Given the description of an element on the screen output the (x, y) to click on. 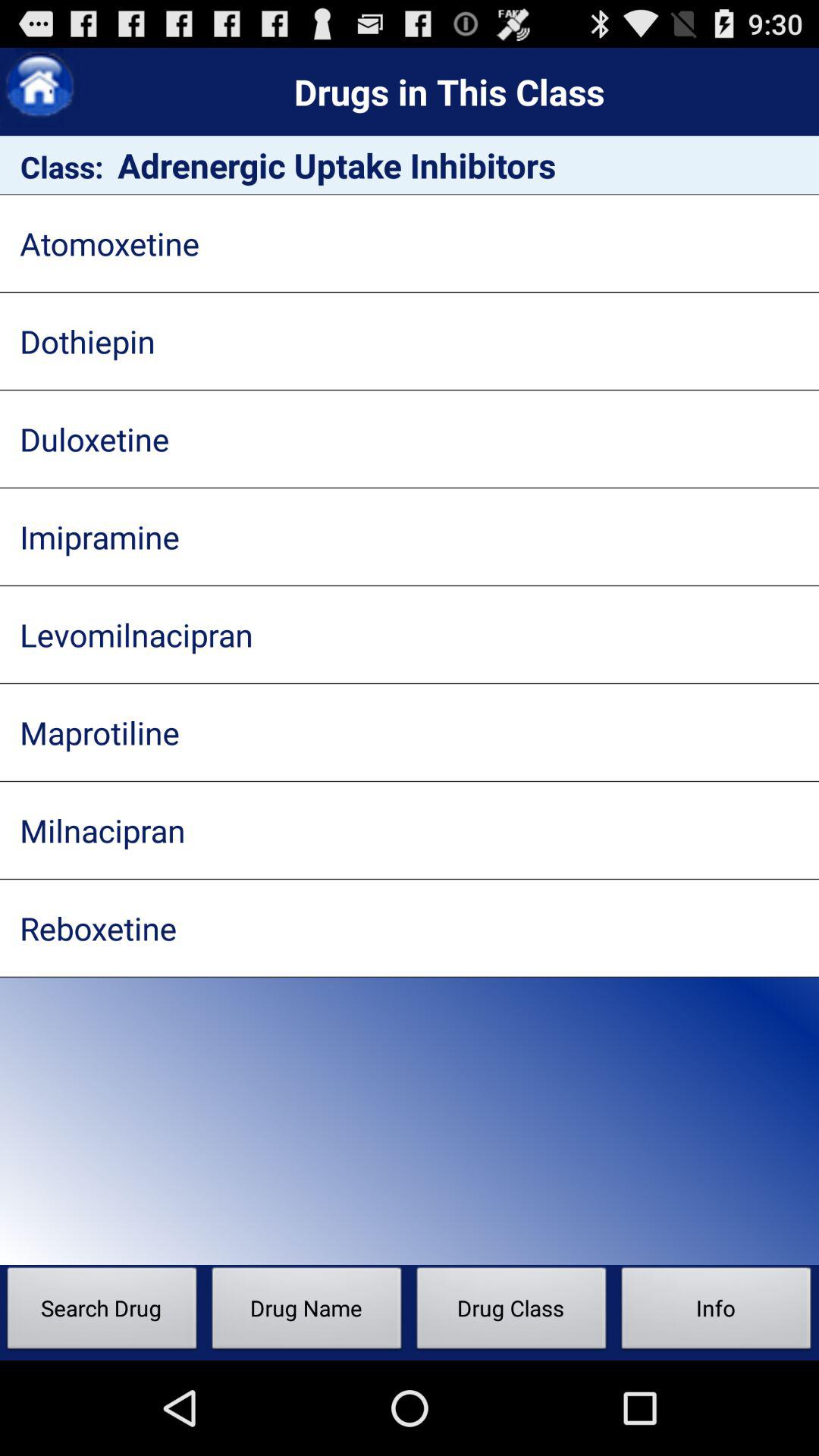
go to homepage (39, 87)
